Given the description of an element on the screen output the (x, y) to click on. 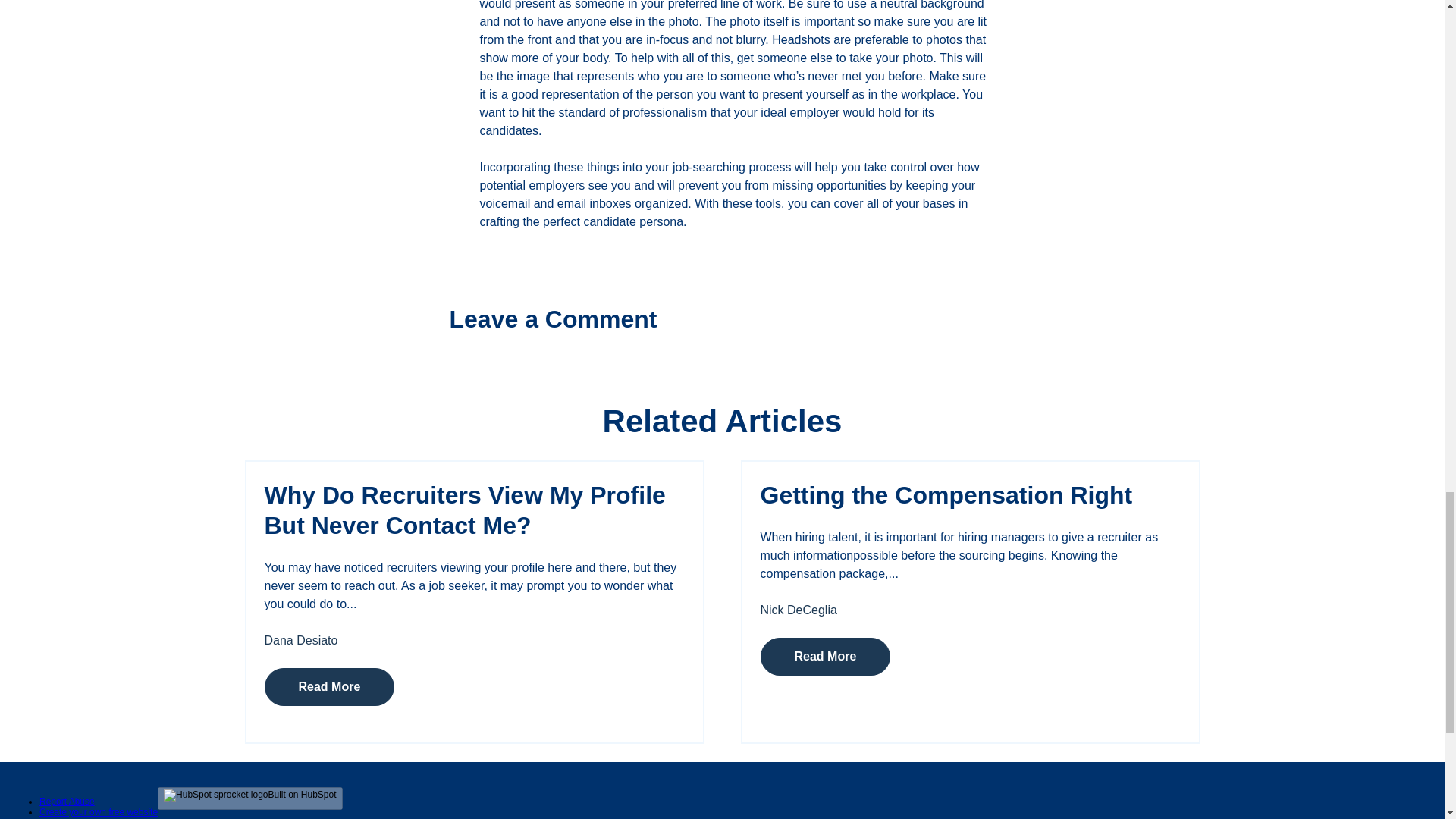
Nick DeCeglia (797, 609)
Dana Desiato (300, 640)
Why Do Recruiters View My Profile But Never Contact Me? (464, 509)
Getting the Compensation Right (946, 494)
Read More (824, 656)
Read More (328, 686)
